Given the description of an element on the screen output the (x, y) to click on. 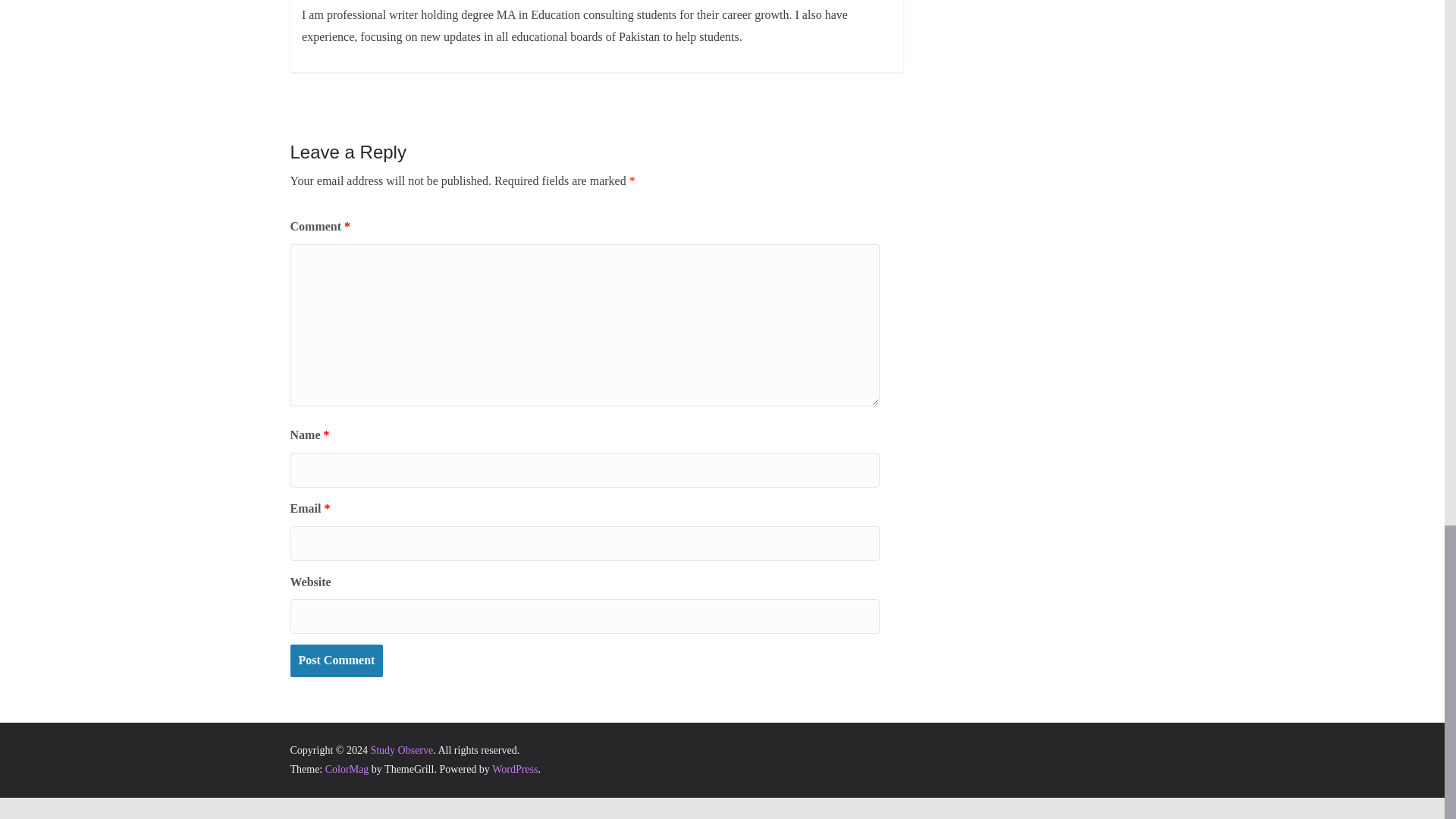
Post Comment (335, 660)
WordPress (514, 768)
Study Observe (400, 749)
ColorMag (346, 768)
ColorMag (346, 768)
WordPress (514, 768)
Post Comment (335, 660)
Study Observe (400, 749)
